Given the description of an element on the screen output the (x, y) to click on. 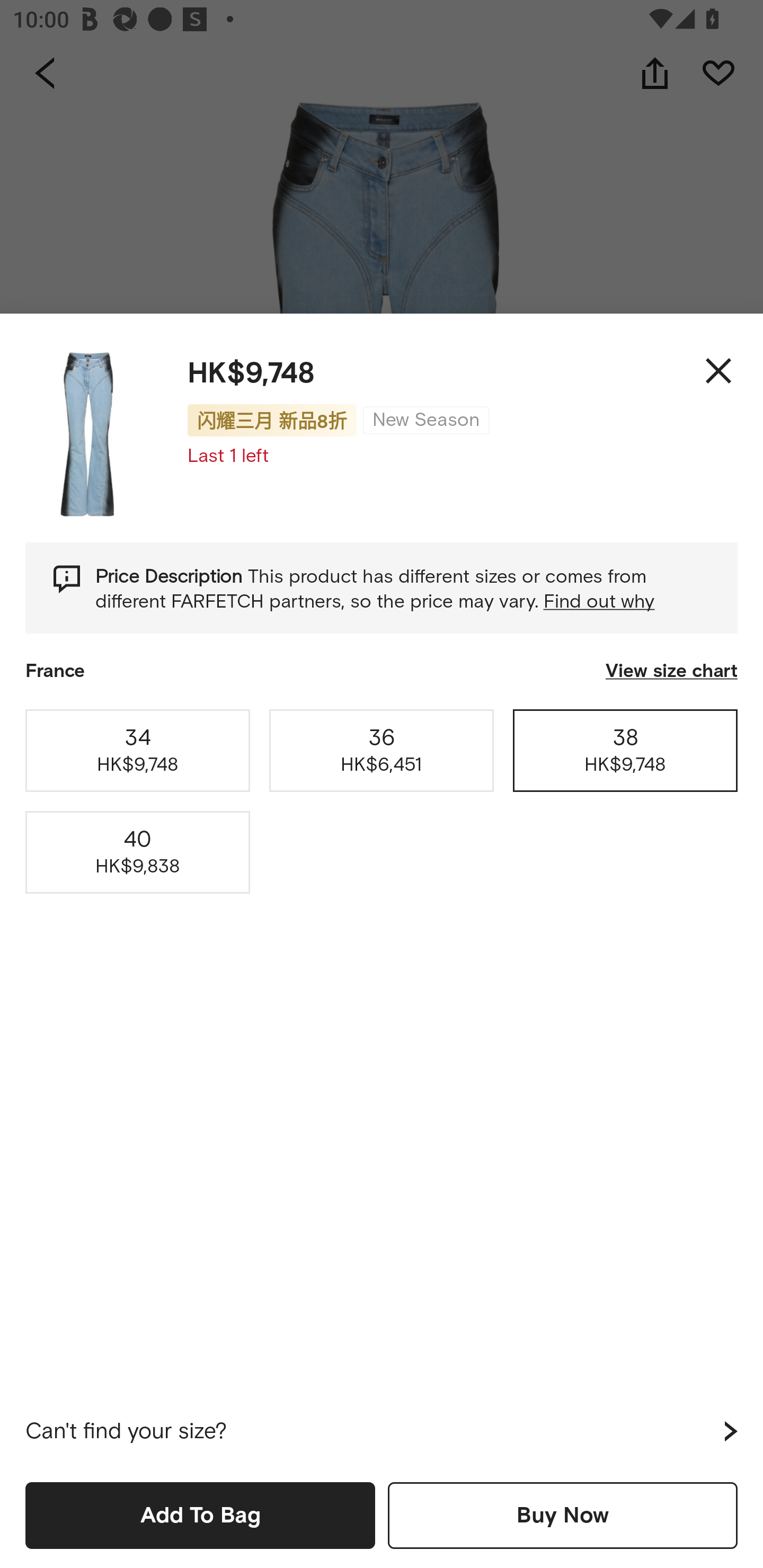
闪耀三月 新品8折 (271, 419)
34 HK$9,748 (137, 749)
36 HK$6,451 (381, 749)
38 HK$9,748 (624, 749)
40 HK$9,838 (137, 851)
Can't find your size? (381, 1431)
Add To Bag (200, 1515)
Buy Now (562, 1515)
